Given the description of an element on the screen output the (x, y) to click on. 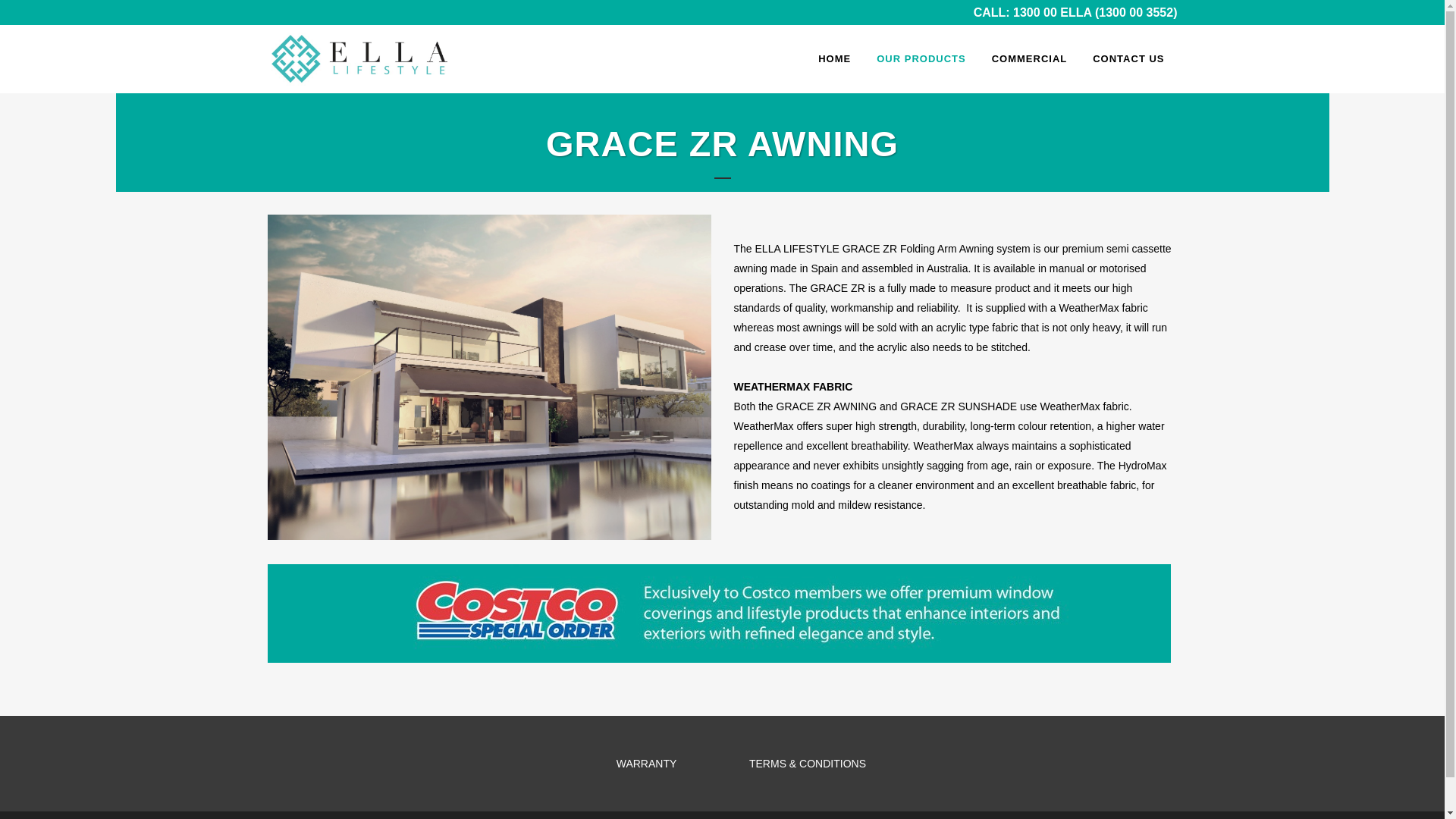
OUR PRODUCTS Element type: text (920, 59)
CONTACT US Element type: text (1127, 59)
WARRANTY Element type: text (646, 763)
COMMERCIAL Element type: text (1029, 59)
TERMS & CONDITIONS Element type: text (807, 763)
HOME Element type: text (834, 59)
